Given the description of an element on the screen output the (x, y) to click on. 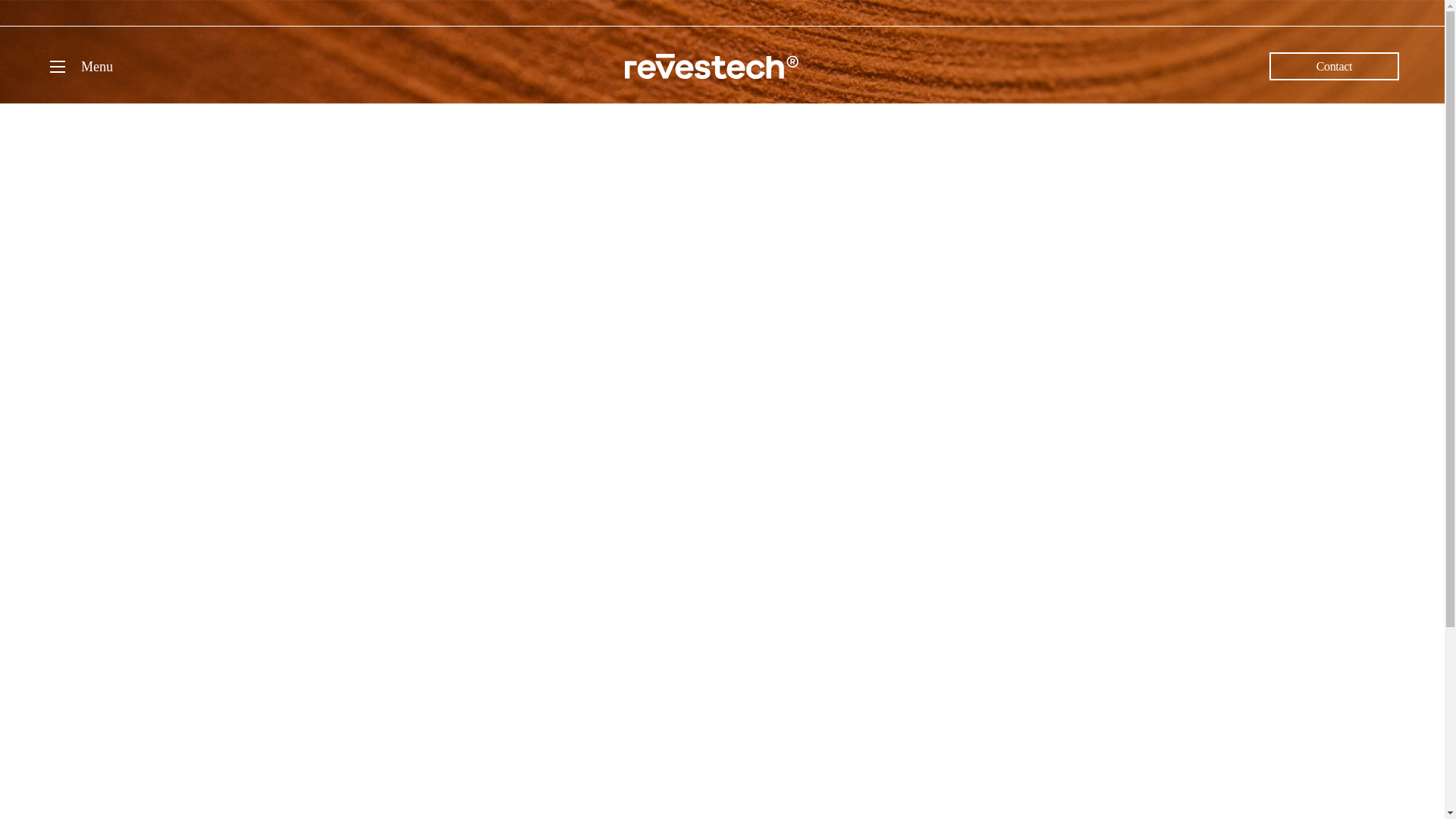
Contact (1334, 66)
